Given the description of an element on the screen output the (x, y) to click on. 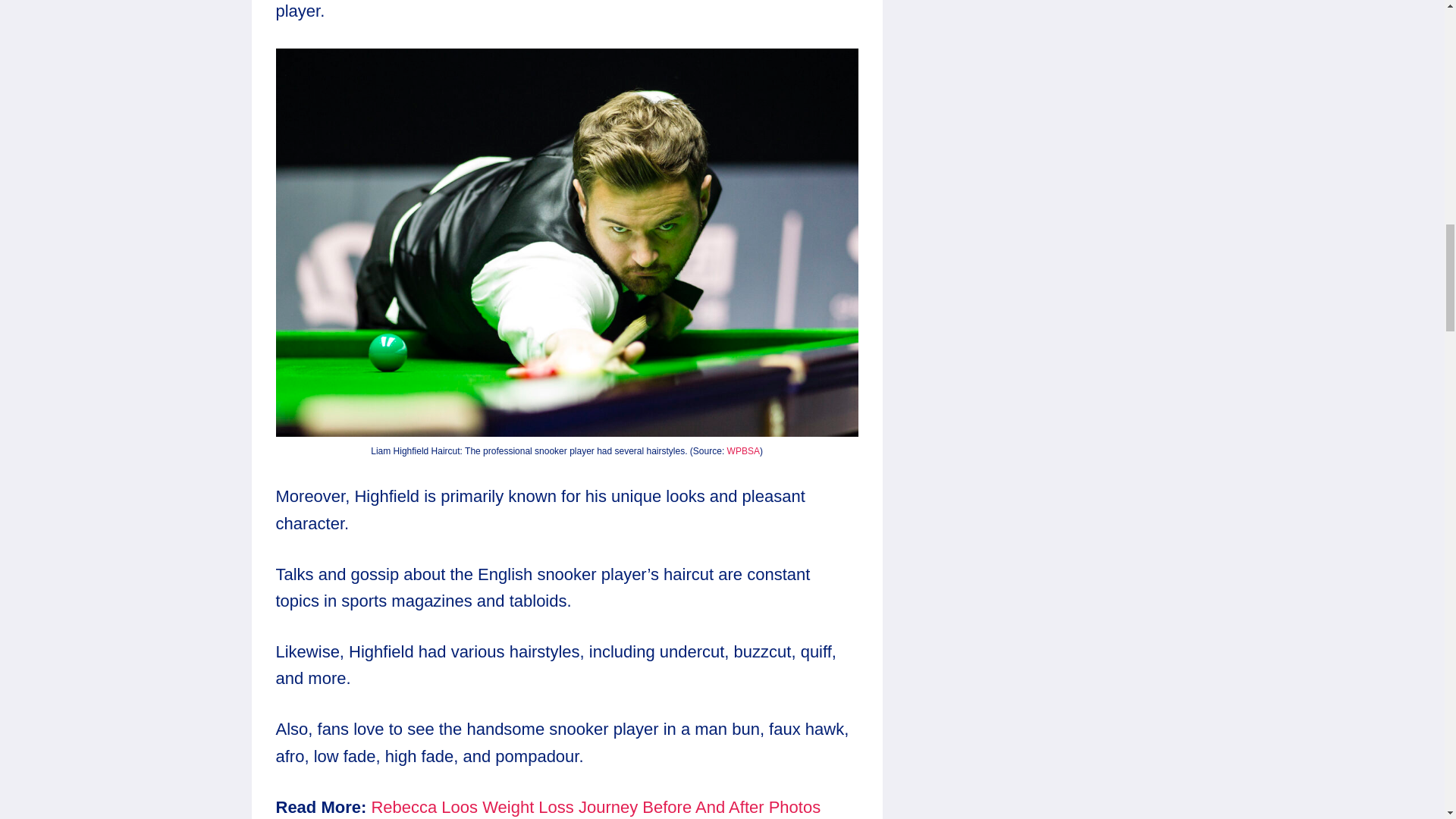
WPBSA (743, 450)
Rebecca Loos Weight Loss Journey Before And After Photos (596, 806)
